Given the description of an element on the screen output the (x, y) to click on. 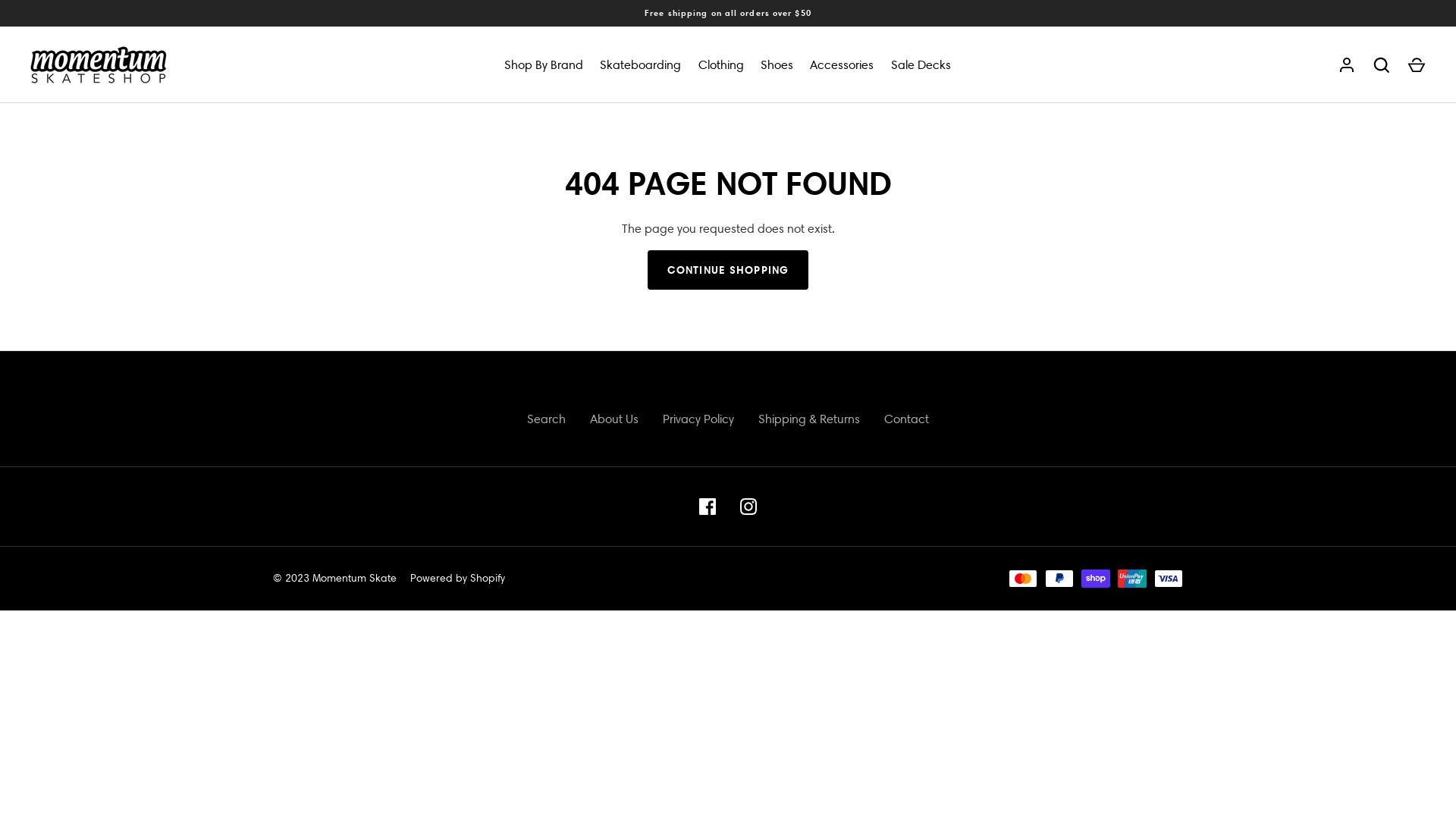
About Us Element type: text (613, 418)
Shop By Brand Element type: text (543, 65)
Skateboarding Element type: text (640, 65)
Shoes Element type: text (776, 65)
Shipping & Returns Element type: text (808, 418)
Search Element type: text (546, 418)
Accessories Element type: text (841, 65)
Powered by Shopify Element type: text (457, 578)
Contact Element type: text (906, 418)
Privacy Policy Element type: text (698, 418)
CONTINUE SHOPPING Element type: text (727, 269)
Clothing Element type: text (721, 65)
Sale Decks Element type: text (920, 65)
